Given the description of an element on the screen output the (x, y) to click on. 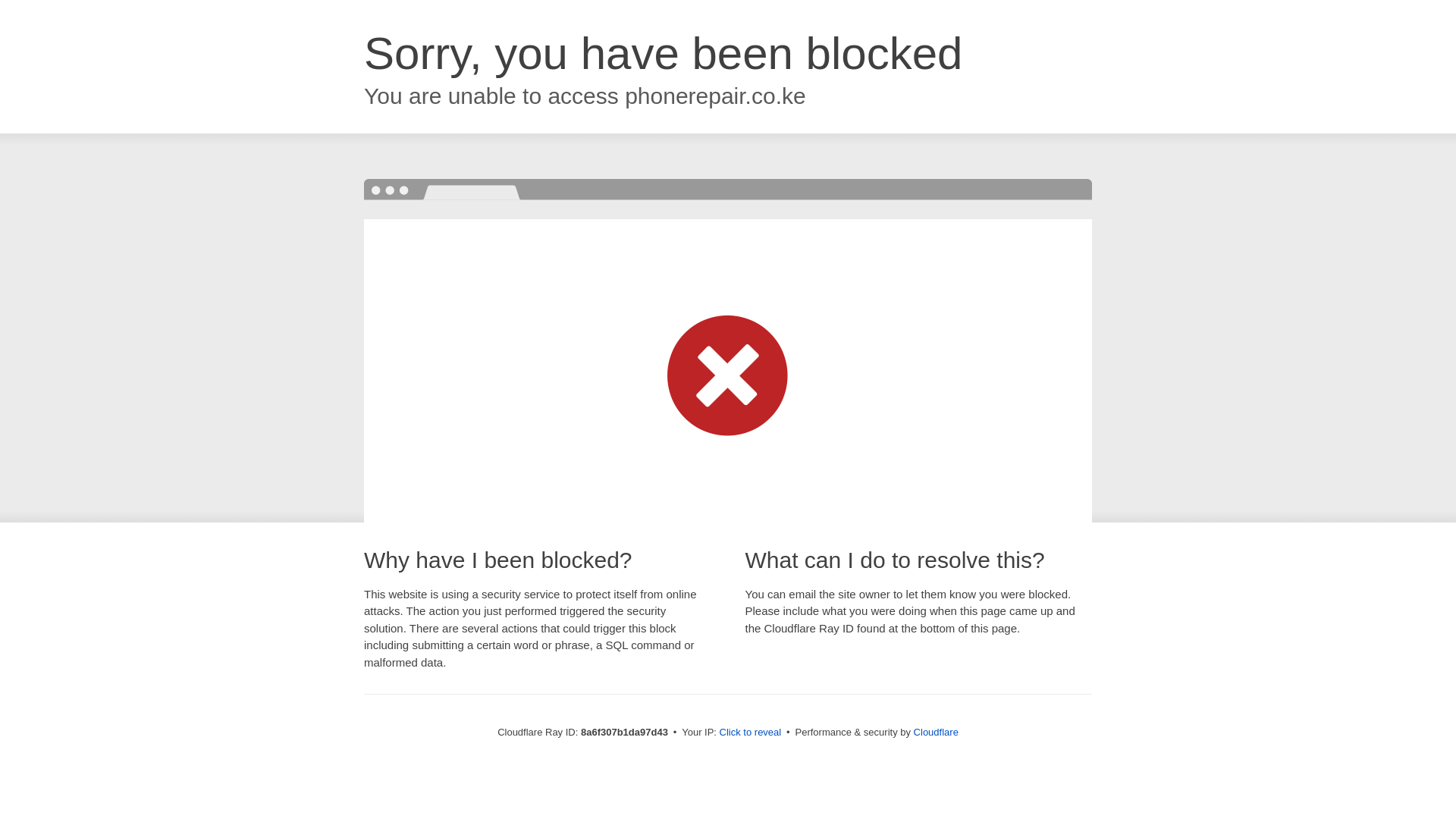
Cloudflare (936, 731)
Click to reveal (750, 732)
